Given the description of an element on the screen output the (x, y) to click on. 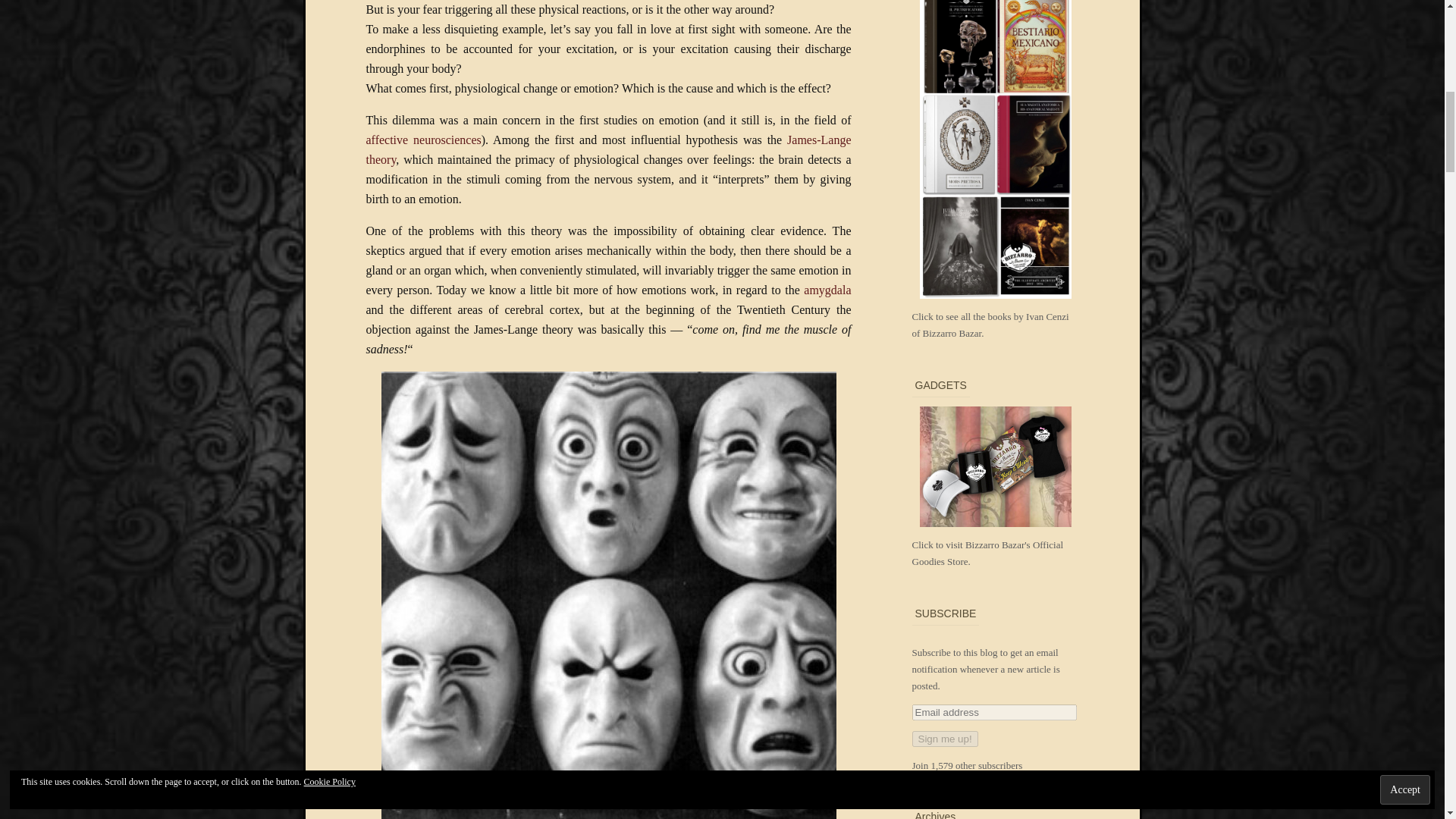
amygdala (826, 289)
GADGETS (994, 480)
James-Lange theory (607, 149)
affective neurosciences (422, 139)
